Given the description of an element on the screen output the (x, y) to click on. 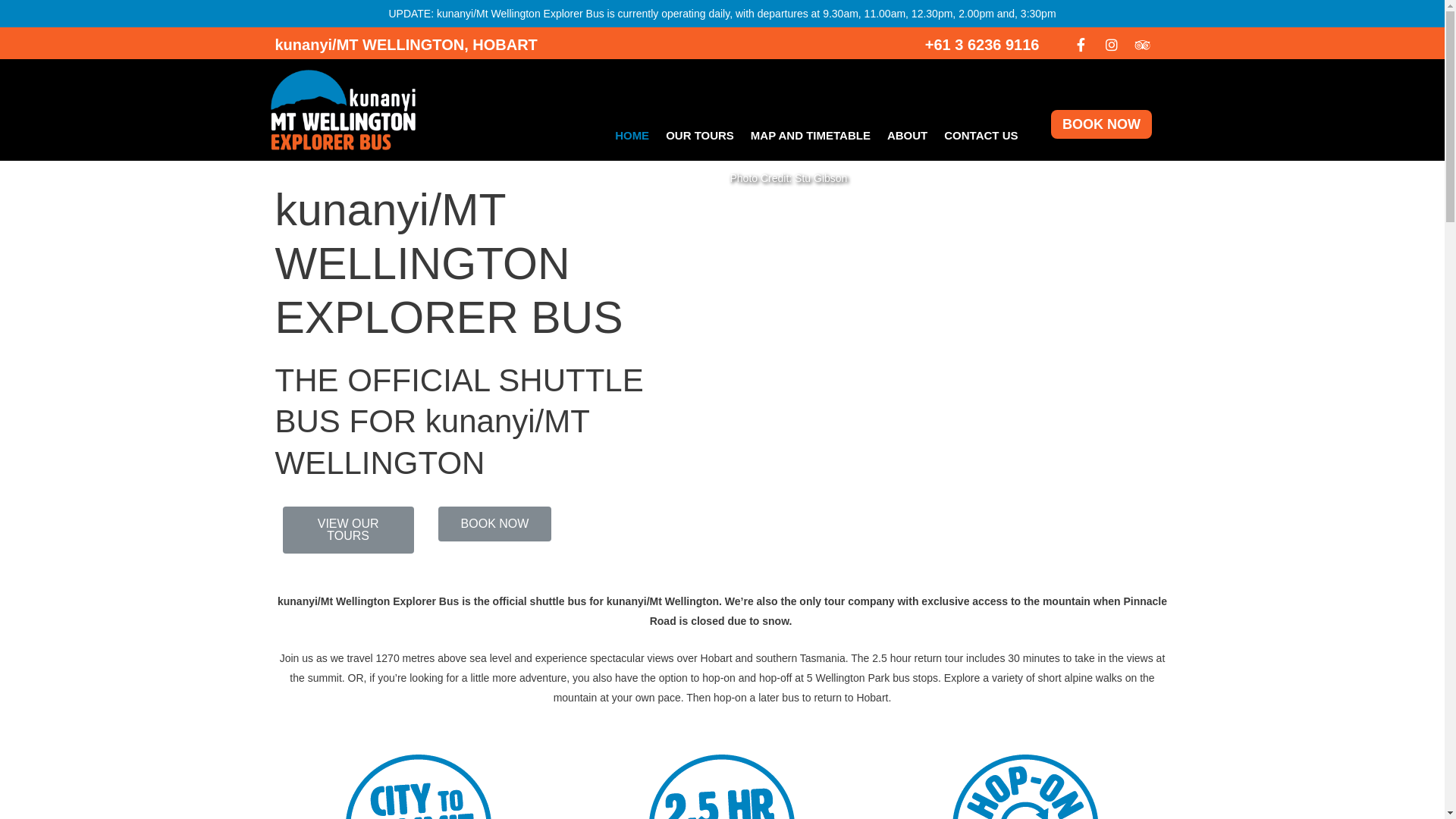
MAP AND TIMETABLE Element type: text (810, 135)
CONTACT US Element type: text (980, 135)
HOME Element type: text (631, 135)
BOOK NOW Element type: text (1101, 123)
BOOK NOW Element type: text (495, 523)
VIEW OUR TOURS Element type: text (347, 529)
OUR TOURS Element type: text (699, 135)
ABOUT Element type: text (907, 135)
